Given the description of an element on the screen output the (x, y) to click on. 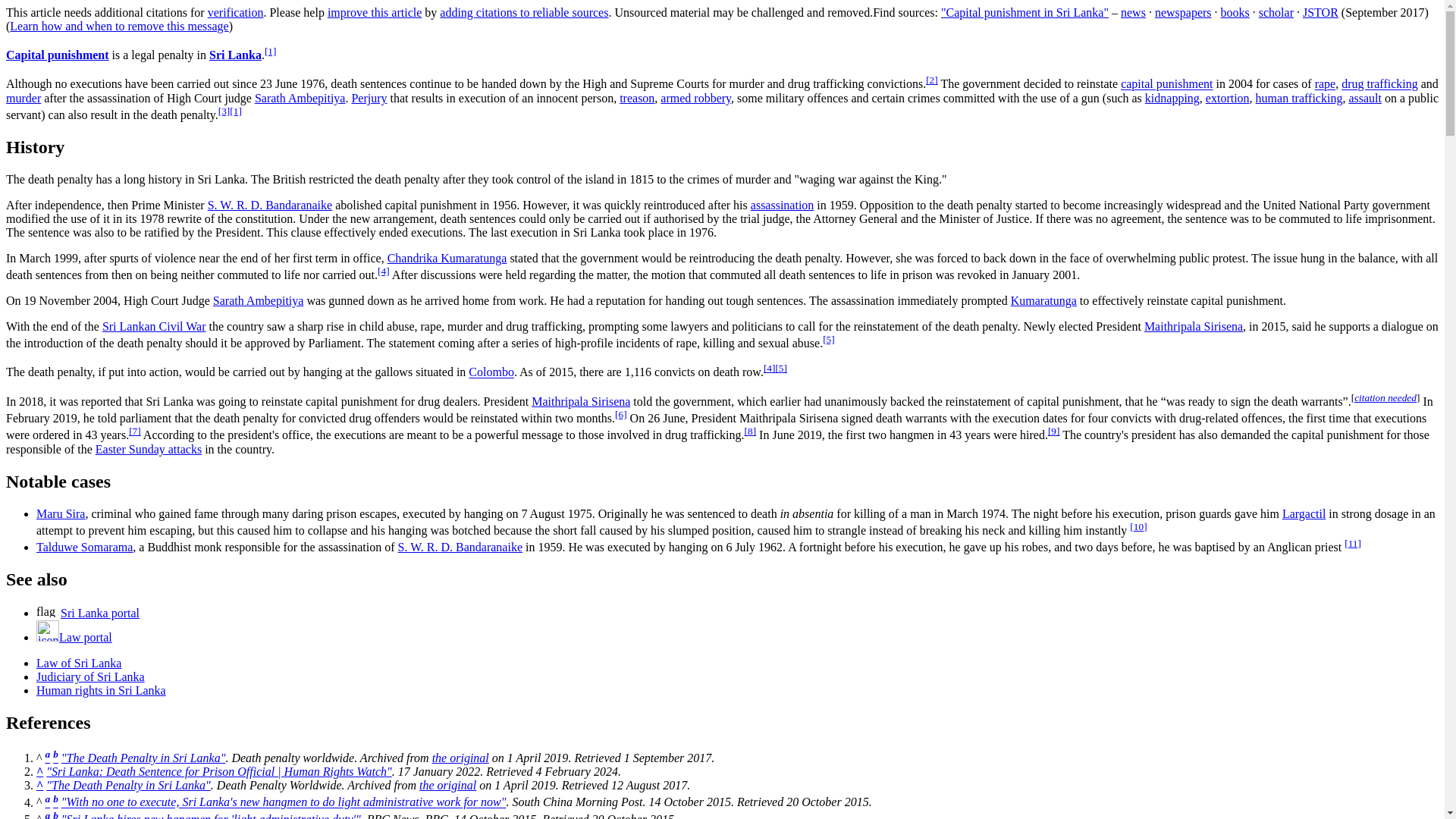
Rape (1325, 83)
Kidnapping (1171, 97)
treason (636, 97)
Kumaratunga (1043, 300)
newspapers (1182, 11)
adding citations to reliable sources (523, 11)
Extortion (1227, 97)
capital punishment (1166, 83)
Sarath Ambepitiya (258, 300)
Treason (636, 97)
human trafficking (1298, 97)
Sri Lanka (235, 54)
Assault (1364, 97)
verification (235, 11)
S. W. R. D. Bandaranaike (269, 205)
